Given the description of an element on the screen output the (x, y) to click on. 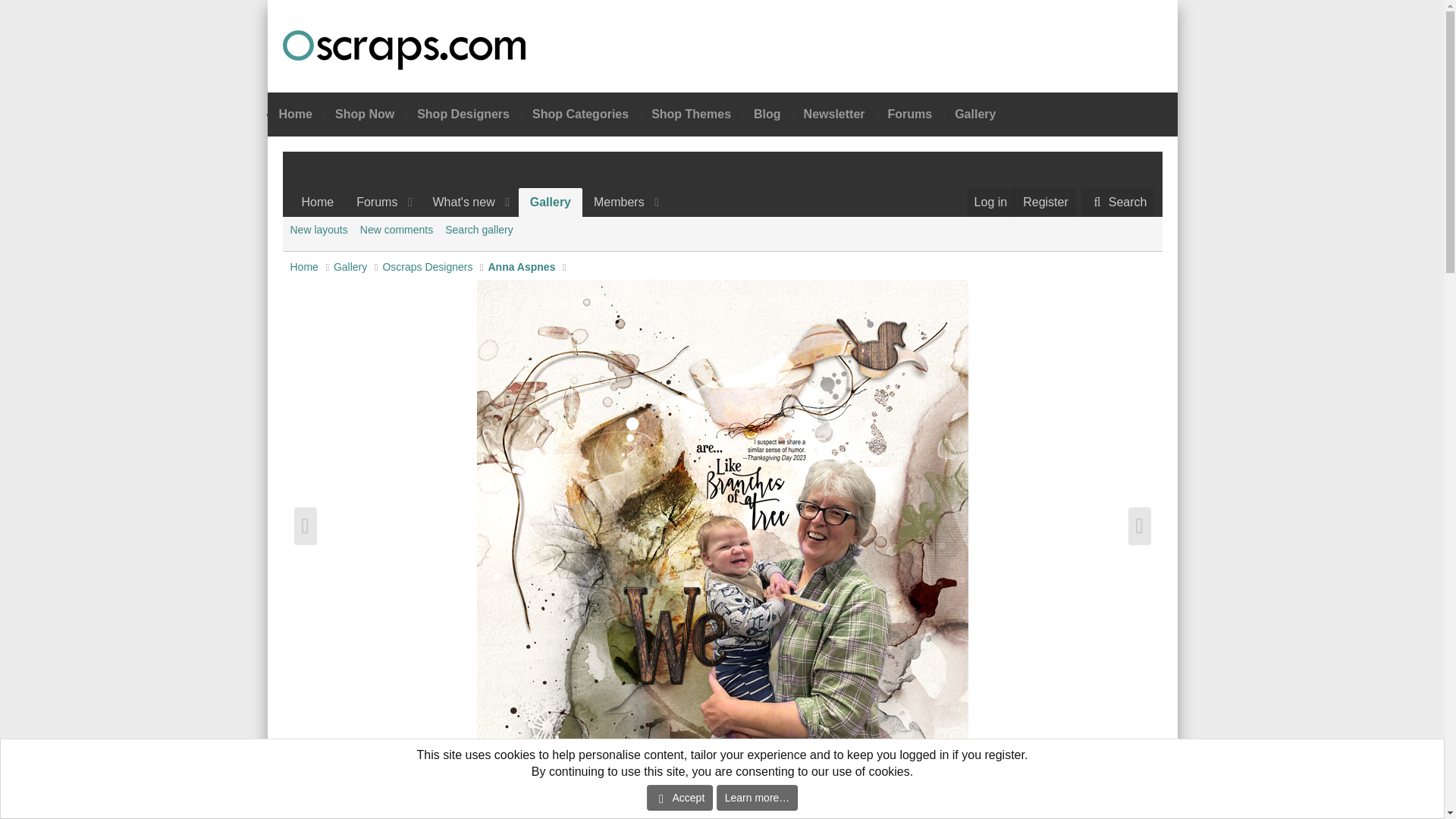
Search (1117, 202)
Log in (990, 202)
Shop Now (364, 113)
Oscraps (403, 49)
Newsletter (833, 113)
Forums (371, 202)
Gallery (550, 202)
Forums (478, 202)
Shop Designers (908, 113)
